Given the description of an element on the screen output the (x, y) to click on. 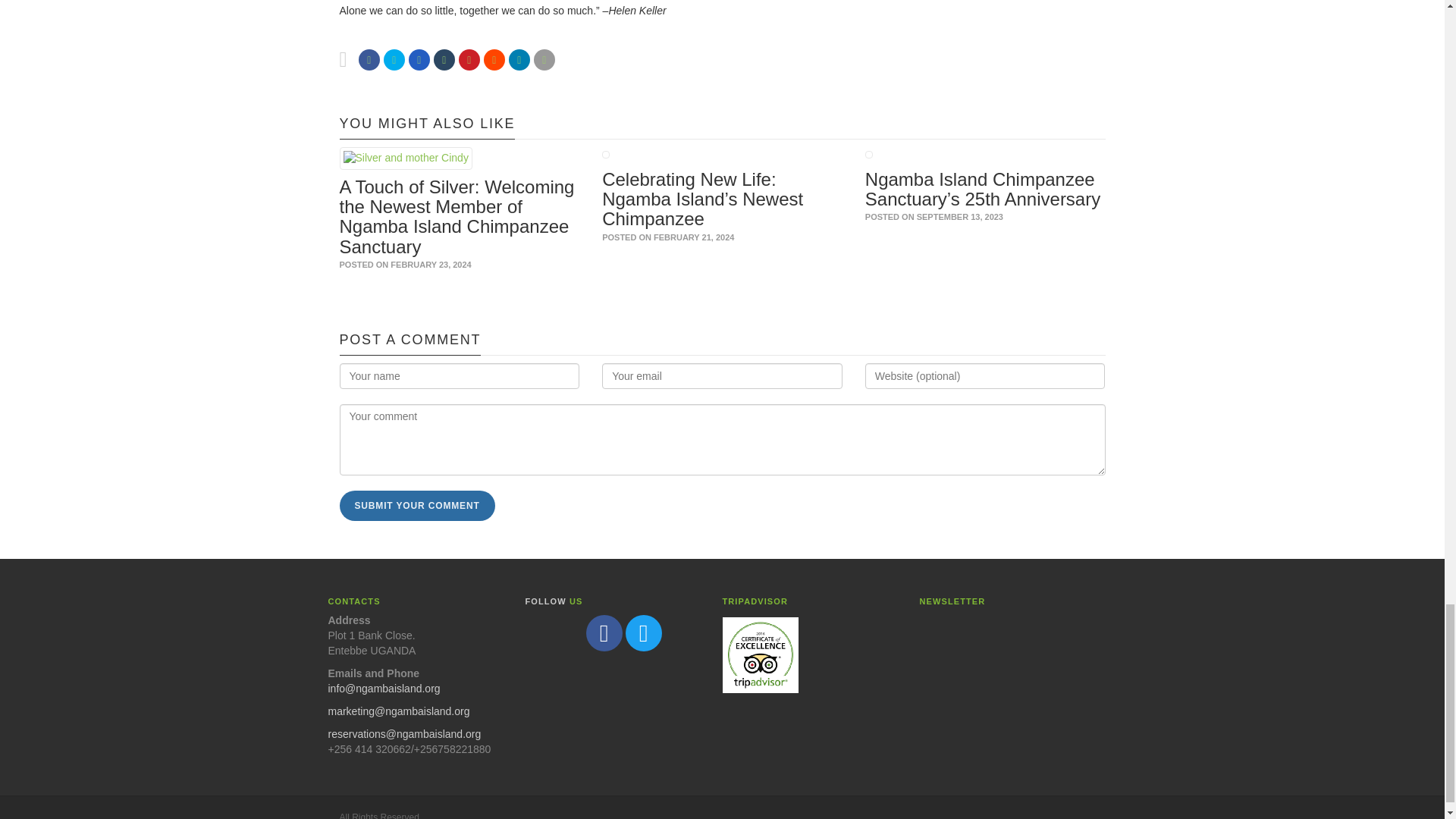
Share on LinkedIn (518, 59)
Submit your comment (417, 505)
Pin it (469, 59)
Post to Tumblr (443, 59)
Submit to Reddit (494, 59)
Share on Facebook (369, 59)
Tweet (394, 59)
